Given the description of an element on the screen output the (x, y) to click on. 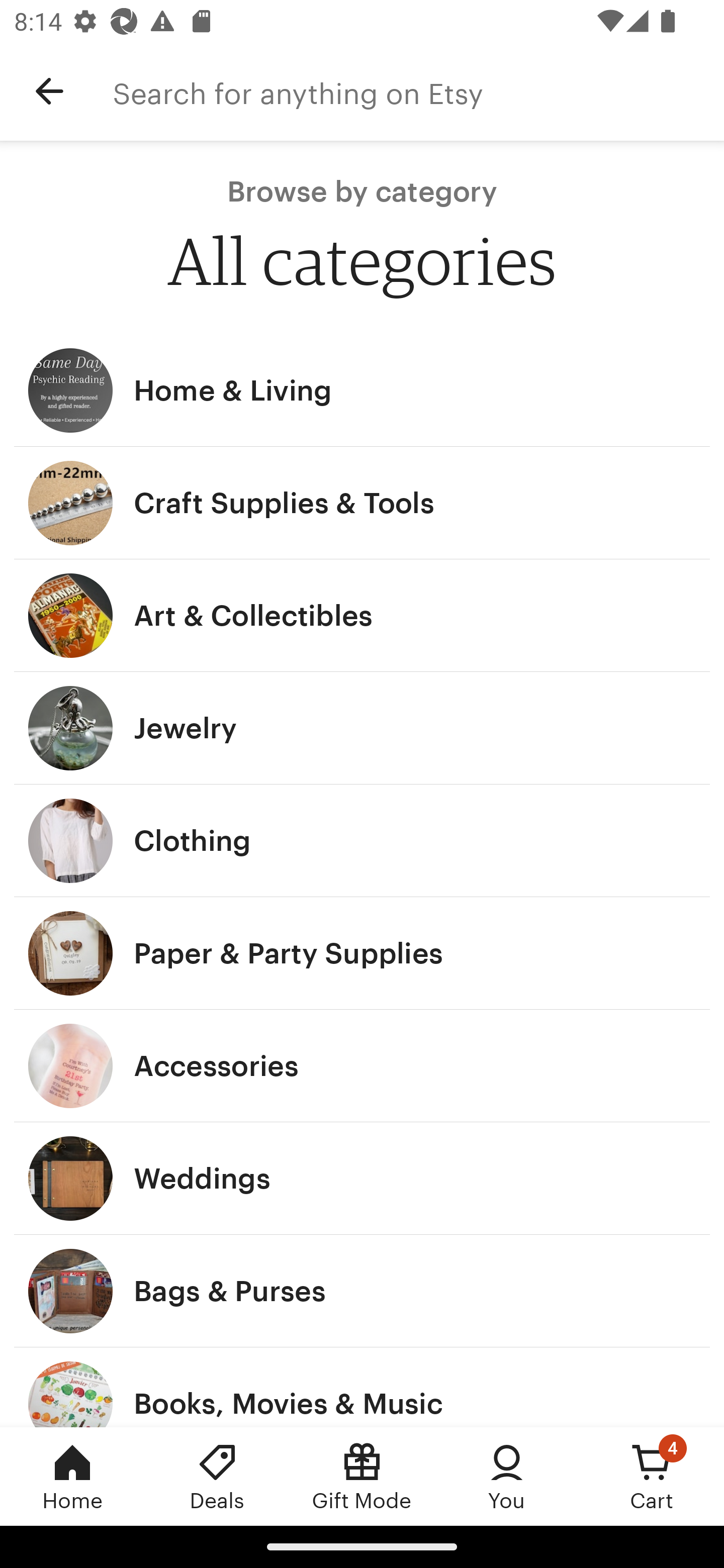
Navigate up (49, 91)
Search for anything on Etsy (418, 91)
Home & Living (361, 389)
Craft Supplies & Tools (361, 502)
Art & Collectibles (361, 615)
Jewelry (361, 728)
Clothing (361, 840)
Paper & Party Supplies (361, 952)
Accessories (361, 1065)
Weddings (361, 1178)
Bags & Purses (361, 1290)
Books, Movies & Music (361, 1386)
Deals (216, 1475)
Gift Mode (361, 1475)
You (506, 1475)
Cart, 4 new notifications Cart (651, 1475)
